Given the description of an element on the screen output the (x, y) to click on. 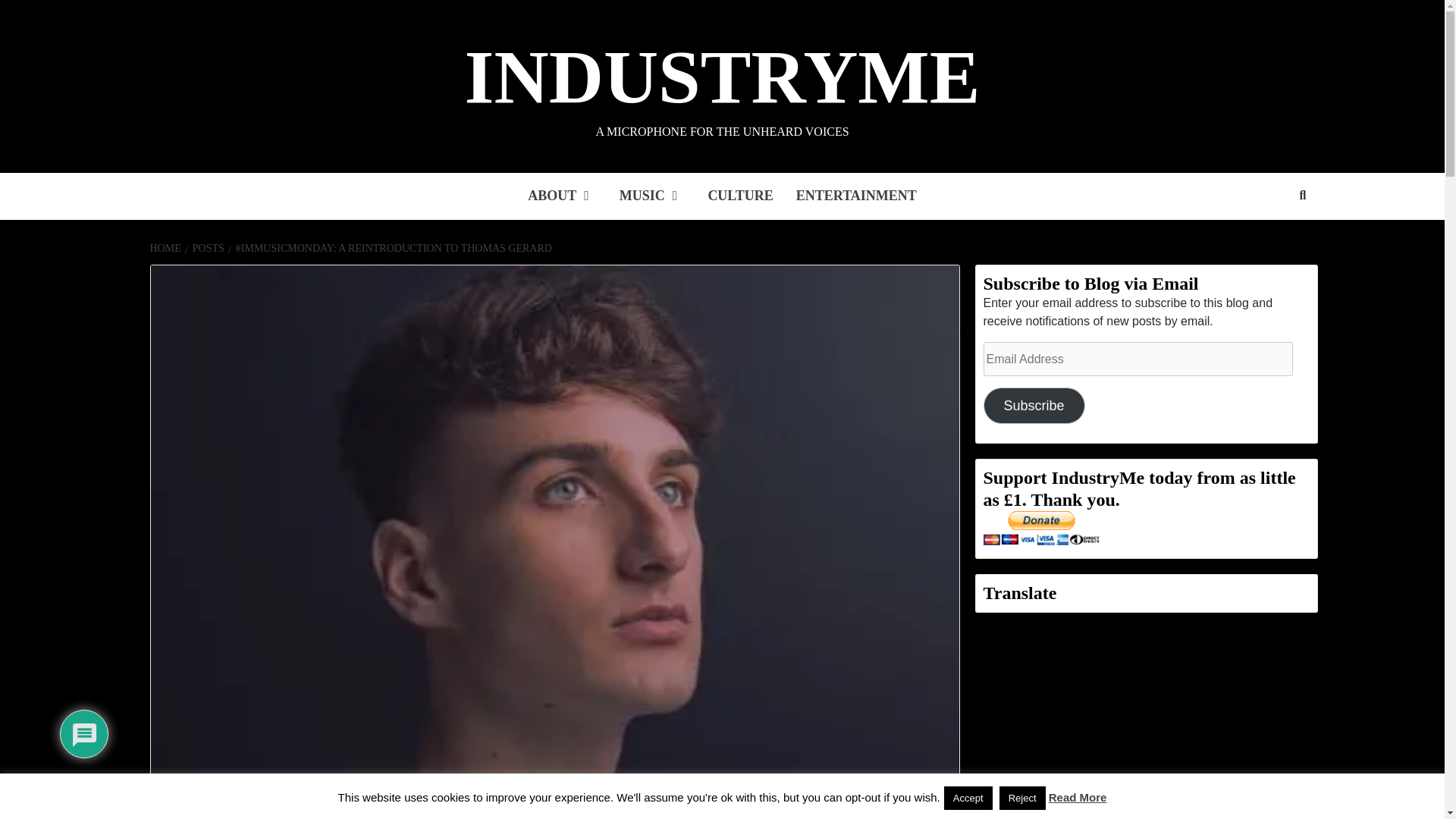
CULTURE (739, 196)
PayPal - The safer, easier way to pay online! (1040, 528)
MUSIC (652, 196)
INDUSTRYME (722, 76)
HOME (166, 247)
ABOUT (562, 196)
POSTS (206, 247)
Subscribe (1033, 405)
ENTERTAINMENT (856, 196)
